Given the description of an element on the screen output the (x, y) to click on. 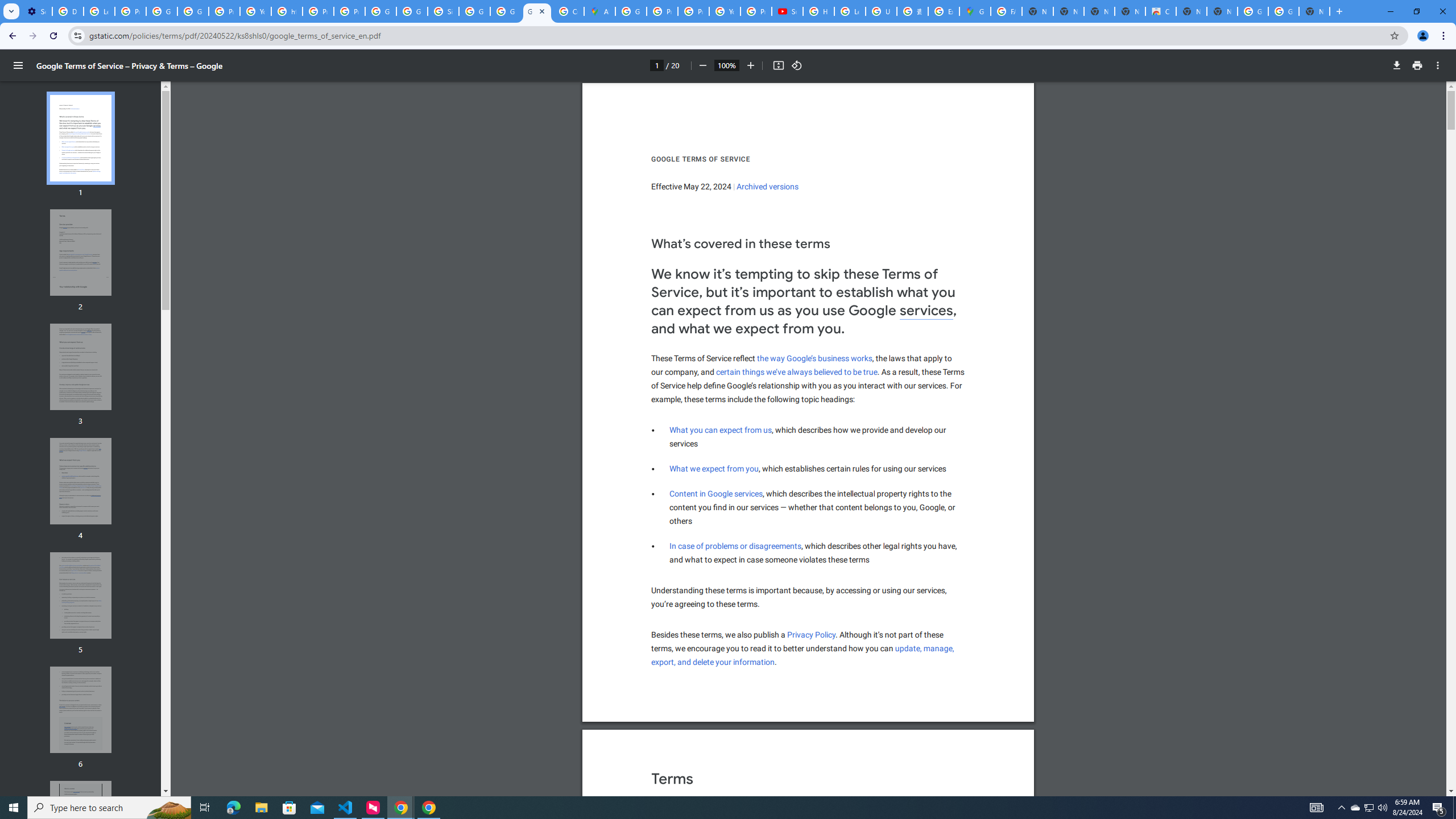
services (926, 311)
Sign in - Google Accounts (443, 11)
